Given the description of an element on the screen output the (x, y) to click on. 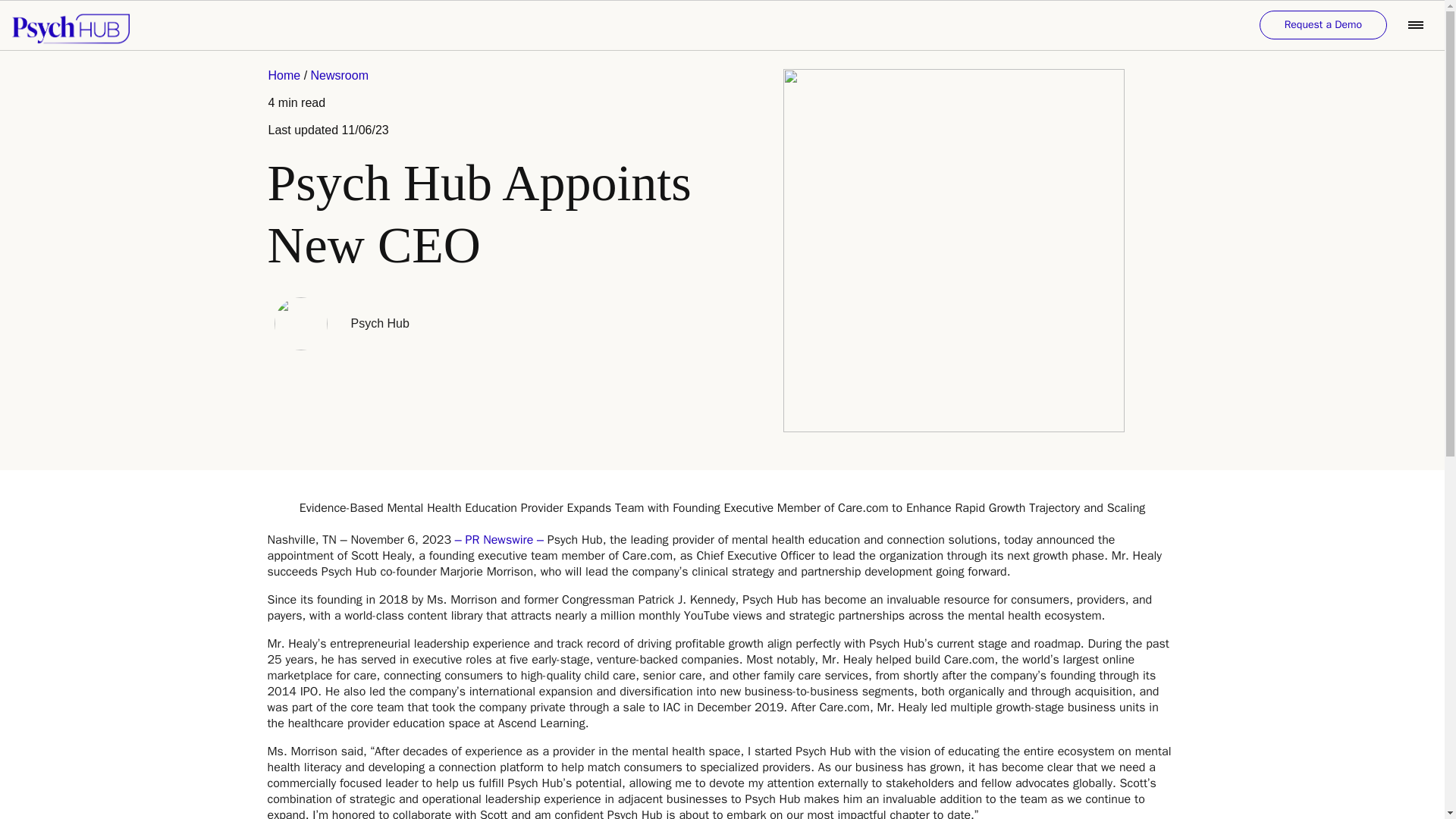
PR Newswire (499, 539)
Request a Demo (1323, 24)
Newsroom (339, 74)
Home  (285, 74)
